Given the description of an element on the screen output the (x, y) to click on. 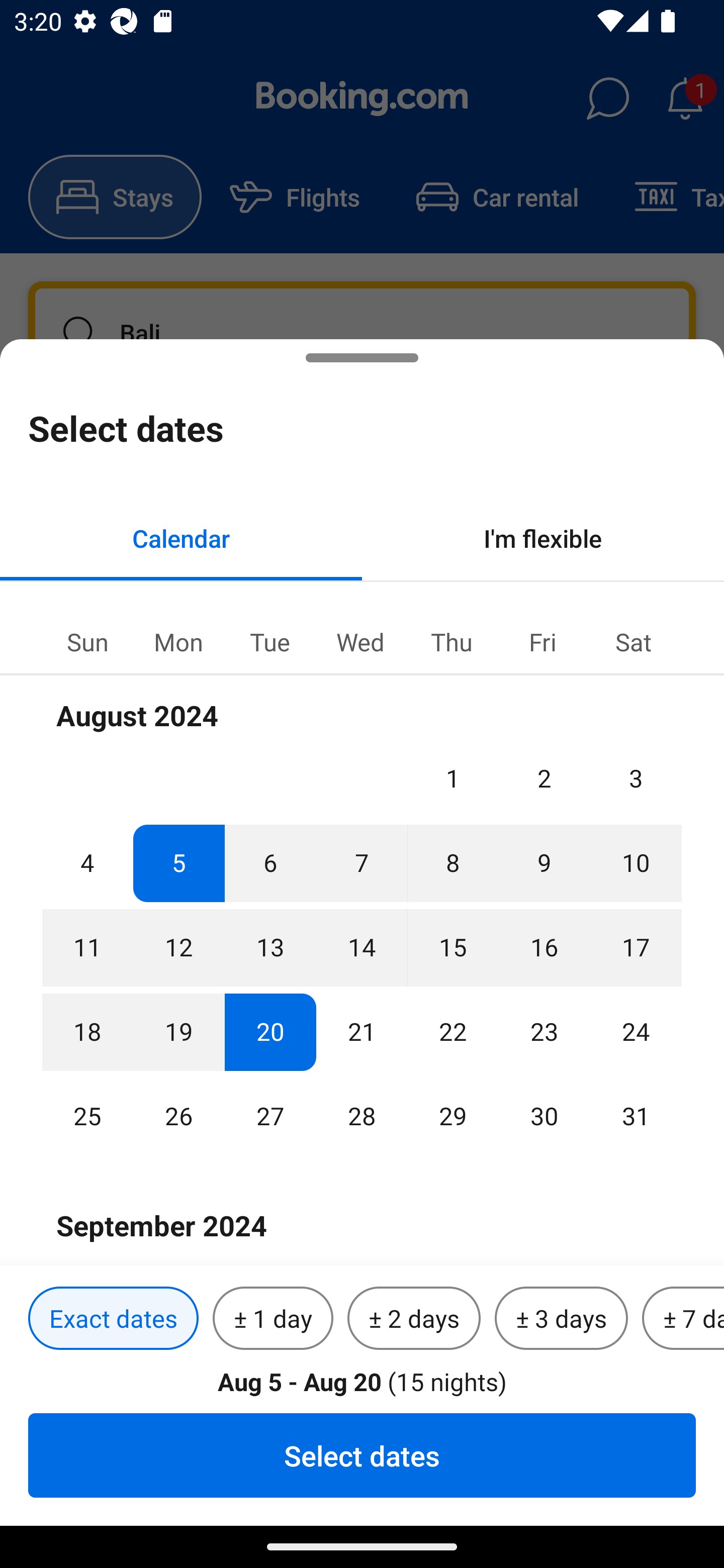
I'm flexible (543, 537)
Exact dates (113, 1318)
± 1 day (272, 1318)
± 2 days (413, 1318)
± 3 days (560, 1318)
± 7 days (683, 1318)
Select dates (361, 1454)
